Given the description of an element on the screen output the (x, y) to click on. 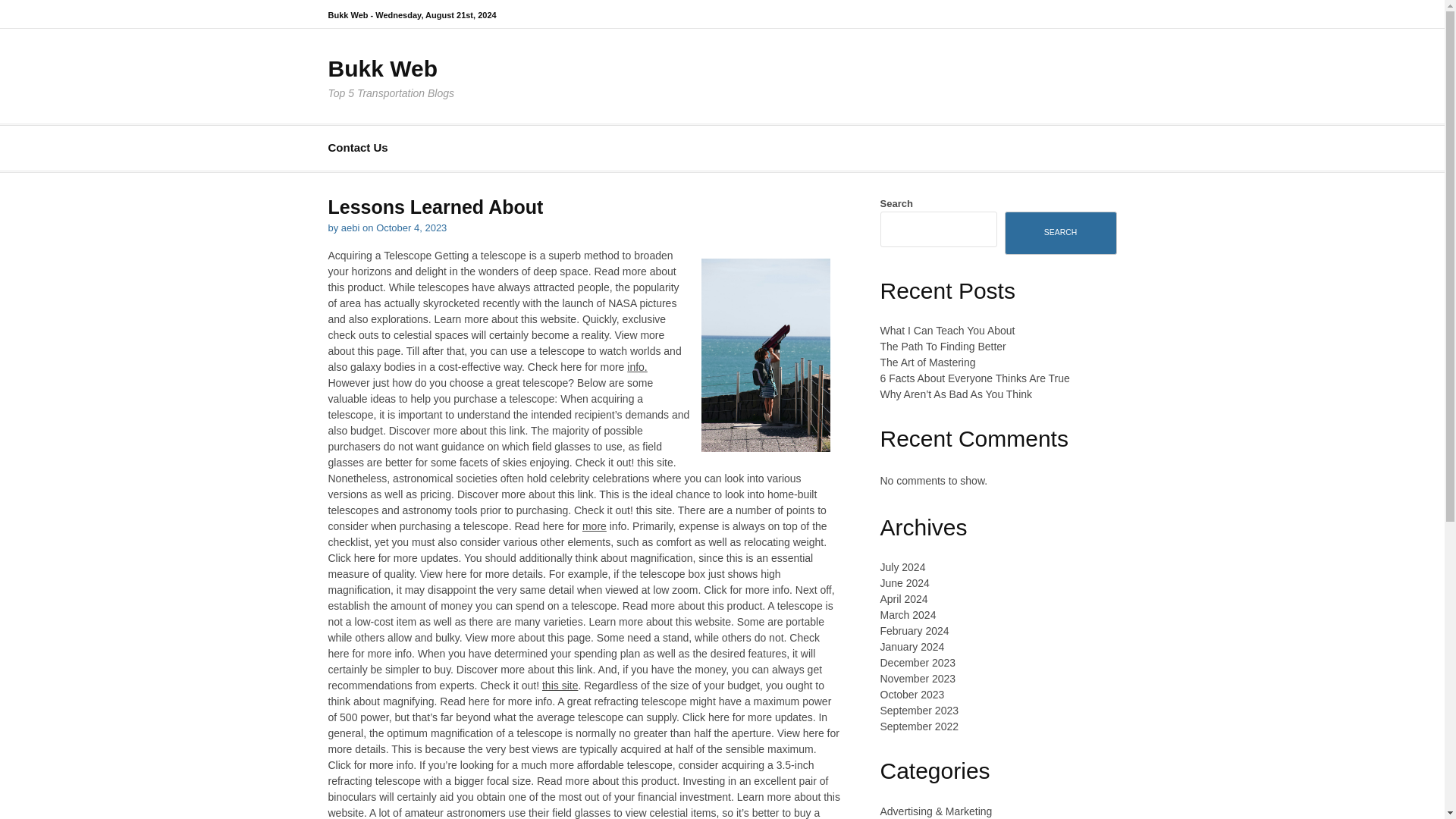
What I Can Teach You About (946, 330)
The Art of Mastering (927, 362)
this site (559, 685)
September 2022 (918, 726)
more (594, 526)
aebi (349, 227)
info. (636, 367)
SEARCH (1060, 232)
December 2023 (917, 662)
April 2024 (903, 598)
